Given the description of an element on the screen output the (x, y) to click on. 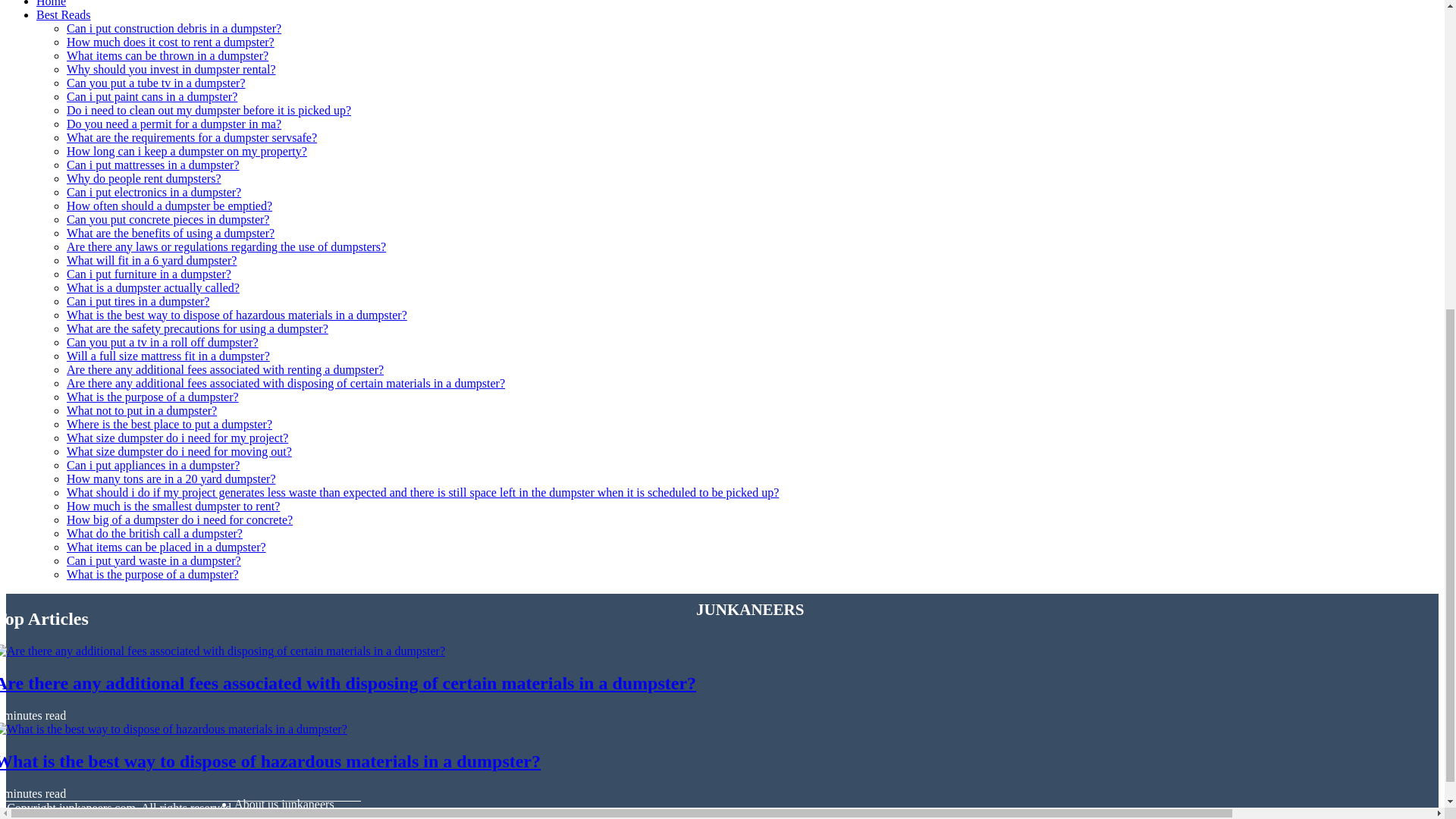
Can you put a tv in a roll off dumpster? (162, 341)
Home (50, 3)
How much does it cost to rent a dumpster? (170, 42)
What are the safety precautions for using a dumpster? (197, 328)
Can i put tires in a dumpster? (137, 300)
Can i put furniture in a dumpster? (148, 273)
Why should you invest in dumpster rental? (171, 69)
How long can i keep a dumpster on my property? (186, 151)
What are the requirements for a dumpster servsafe? (191, 137)
